Given the description of an element on the screen output the (x, y) to click on. 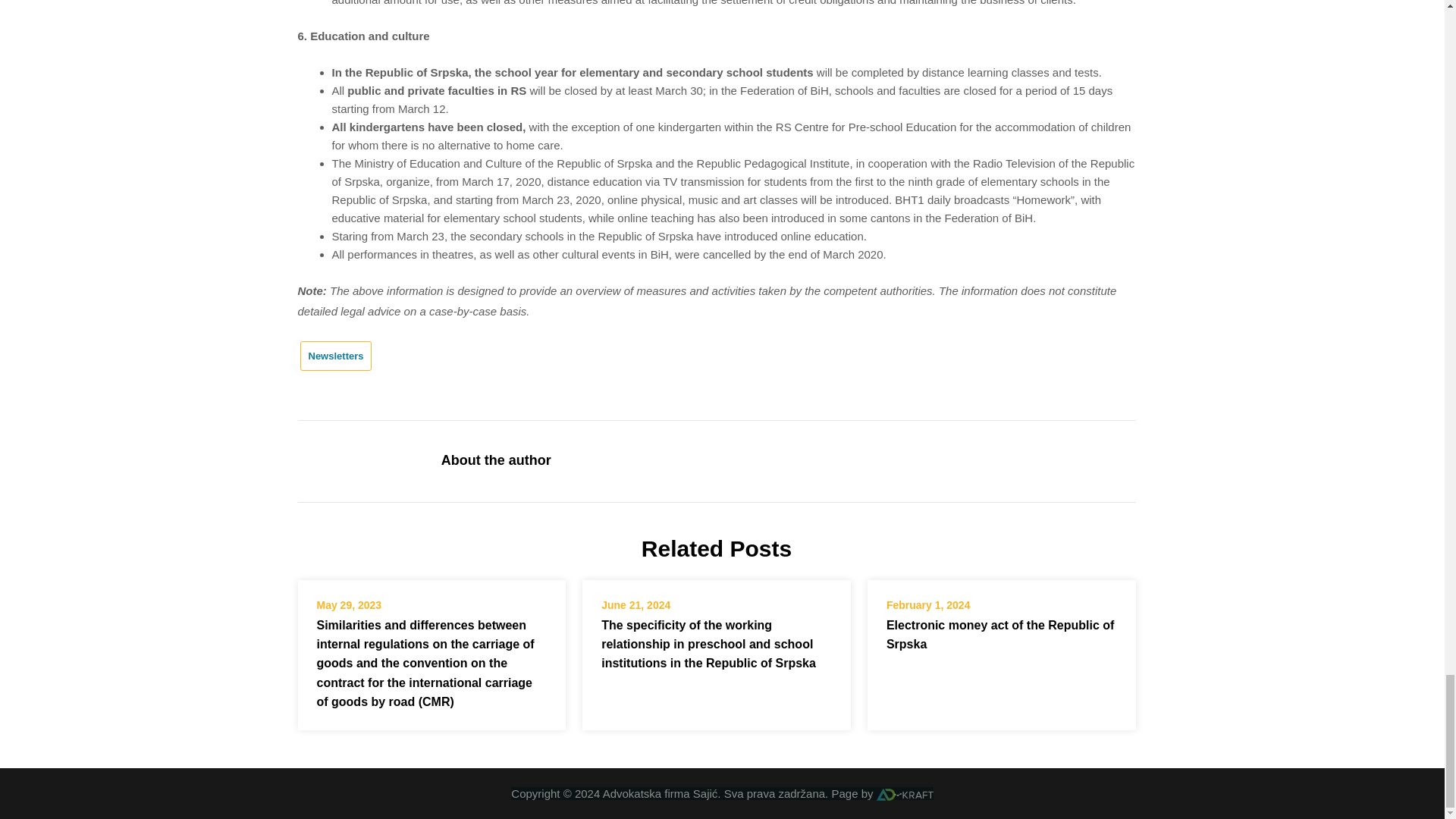
Electronic money act of the Republic of Srpska (1000, 634)
Newsletters (335, 355)
